Given the description of an element on the screen output the (x, y) to click on. 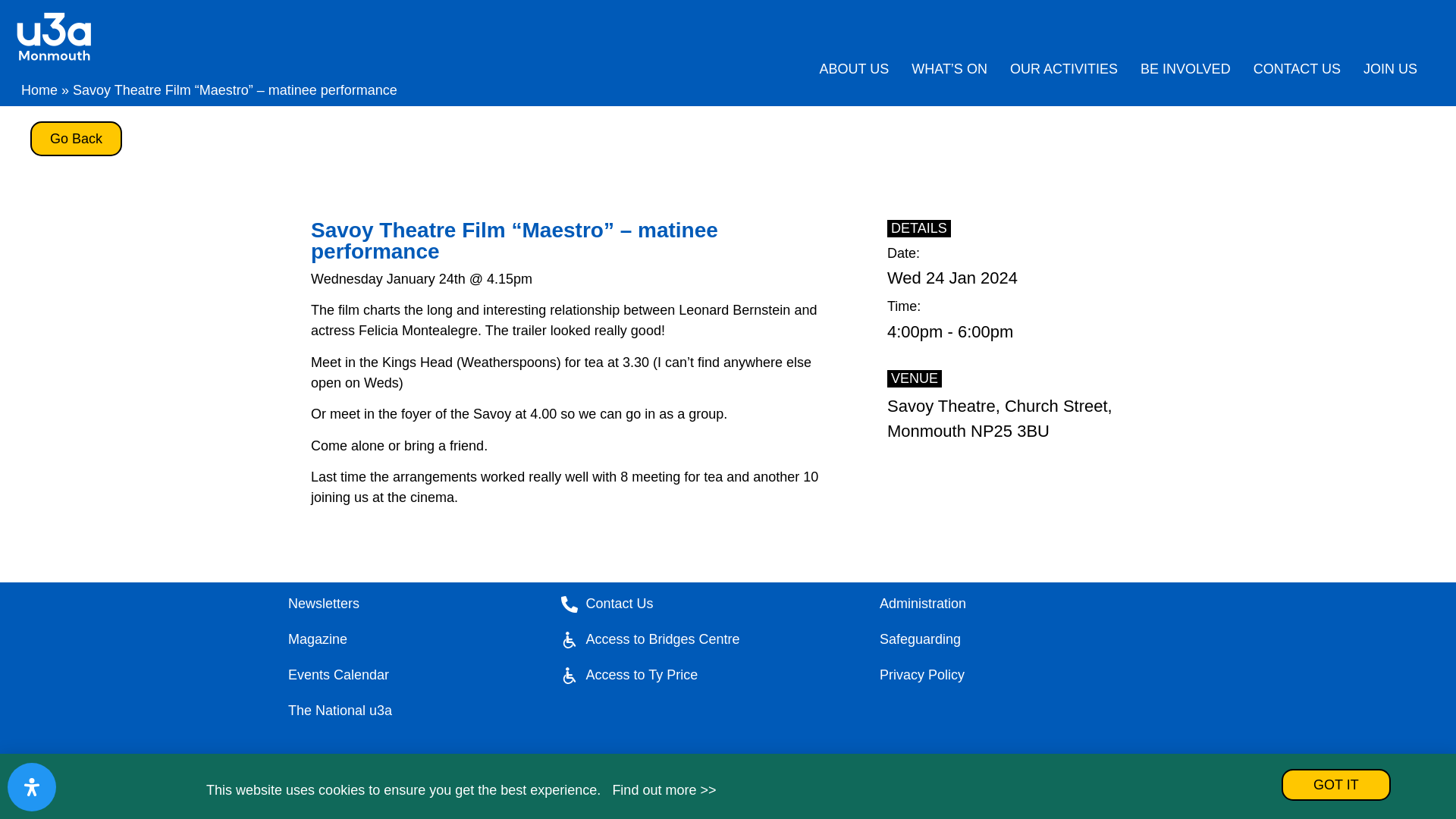
OUR ACTIVITIES (1063, 69)
Contact Us (704, 603)
Access to Bridges Centre (704, 639)
Home (39, 89)
Magazine (409, 639)
ABOUT US (854, 69)
BE INVOLVED (1185, 69)
The National u3a (409, 711)
Go Back (76, 138)
JOIN US (1390, 69)
Events Calendar (409, 675)
Newsletters (409, 603)
CONTACT US (1296, 69)
